Given the description of an element on the screen output the (x, y) to click on. 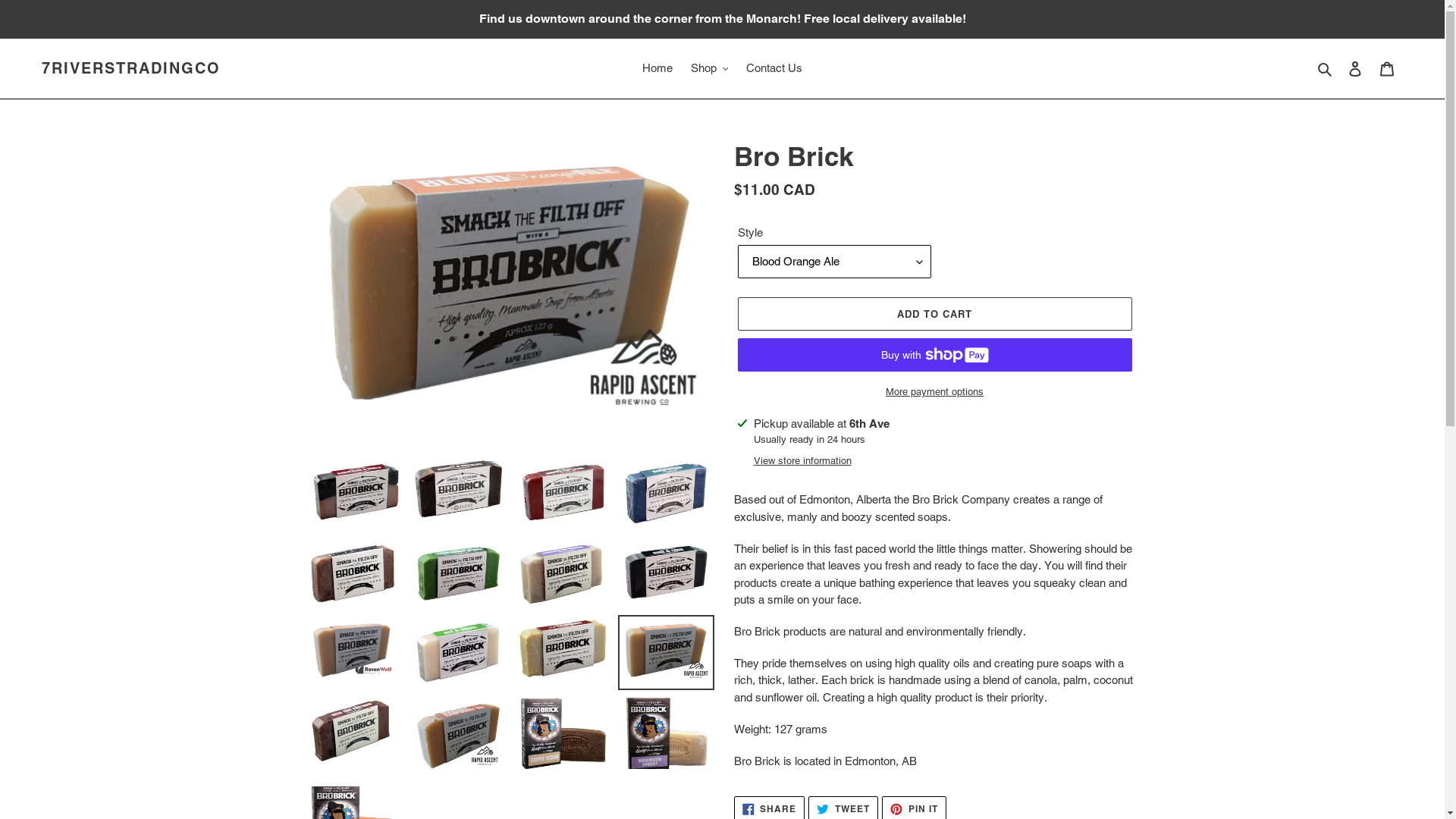
Cart Element type: text (1386, 68)
Log in Element type: text (1355, 68)
Contact Us Element type: text (773, 68)
More payment options Element type: text (934, 391)
Home Element type: text (657, 68)
ADD TO CART Element type: text (934, 313)
7RIVERSTRADINGCO Element type: text (130, 68)
Search Element type: text (1325, 68)
View store information Element type: text (802, 460)
Shop Element type: text (709, 68)
